Given the description of an element on the screen output the (x, y) to click on. 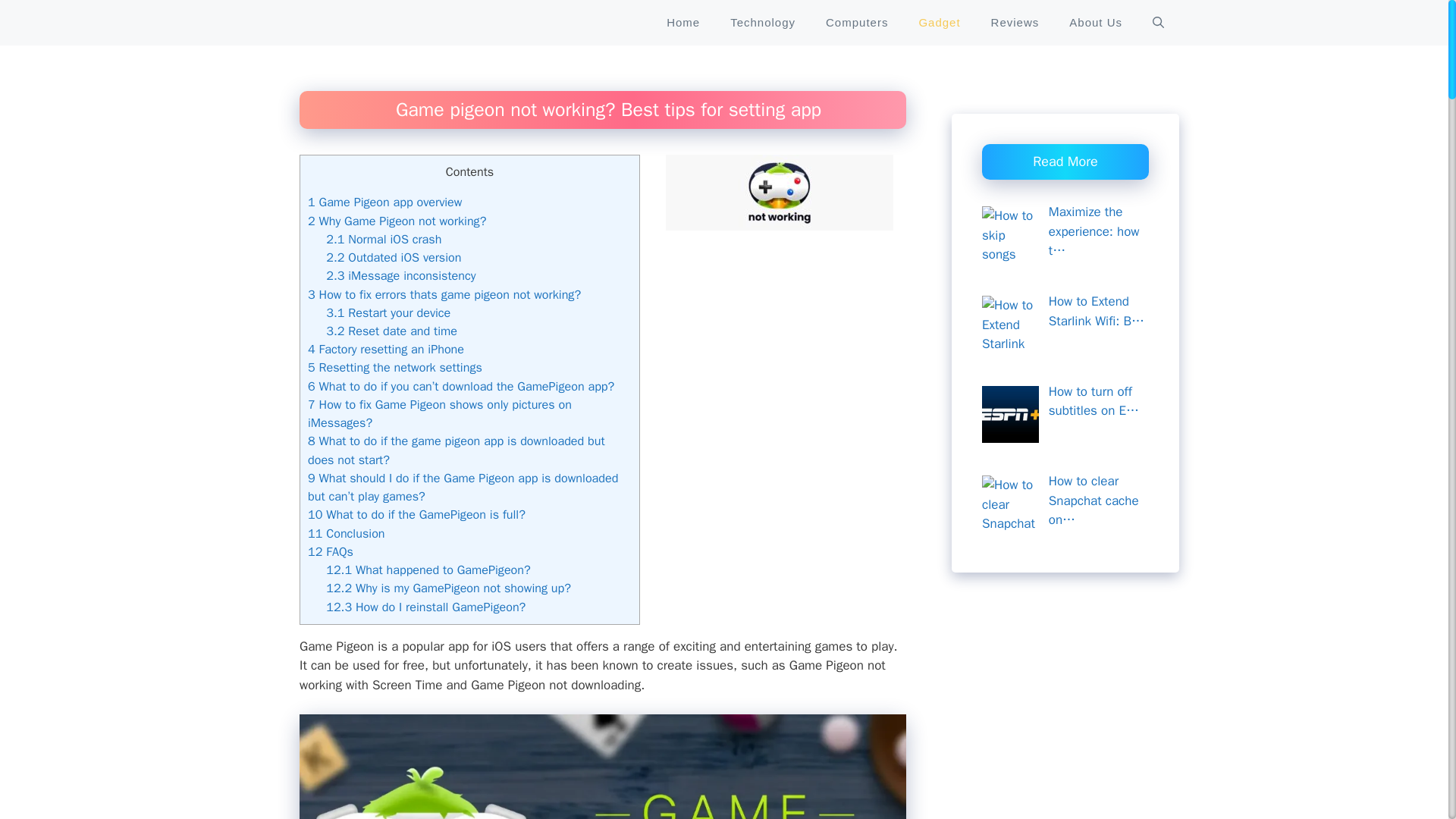
4 Factory resetting an iPhone (385, 349)
11 Conclusion (346, 533)
3.1 Restart your device (387, 312)
12.2 Why is my GamePigeon not showing up? (448, 587)
12.3 How do I reinstall GamePigeon? (425, 606)
1 Game Pigeon app overview (384, 201)
7 How to fix Game Pigeon shows only pictures on iMessages? (439, 413)
About Us (1095, 22)
10 What to do if the GamePigeon is full? (416, 514)
12.1 What happened to GamePigeon? (428, 569)
Gadget (938, 22)
2.1 Normal iOS crash (383, 238)
2.3 iMessage inconsistency (401, 275)
Computers (856, 22)
Reviews (1014, 22)
